Given the description of an element on the screen output the (x, y) to click on. 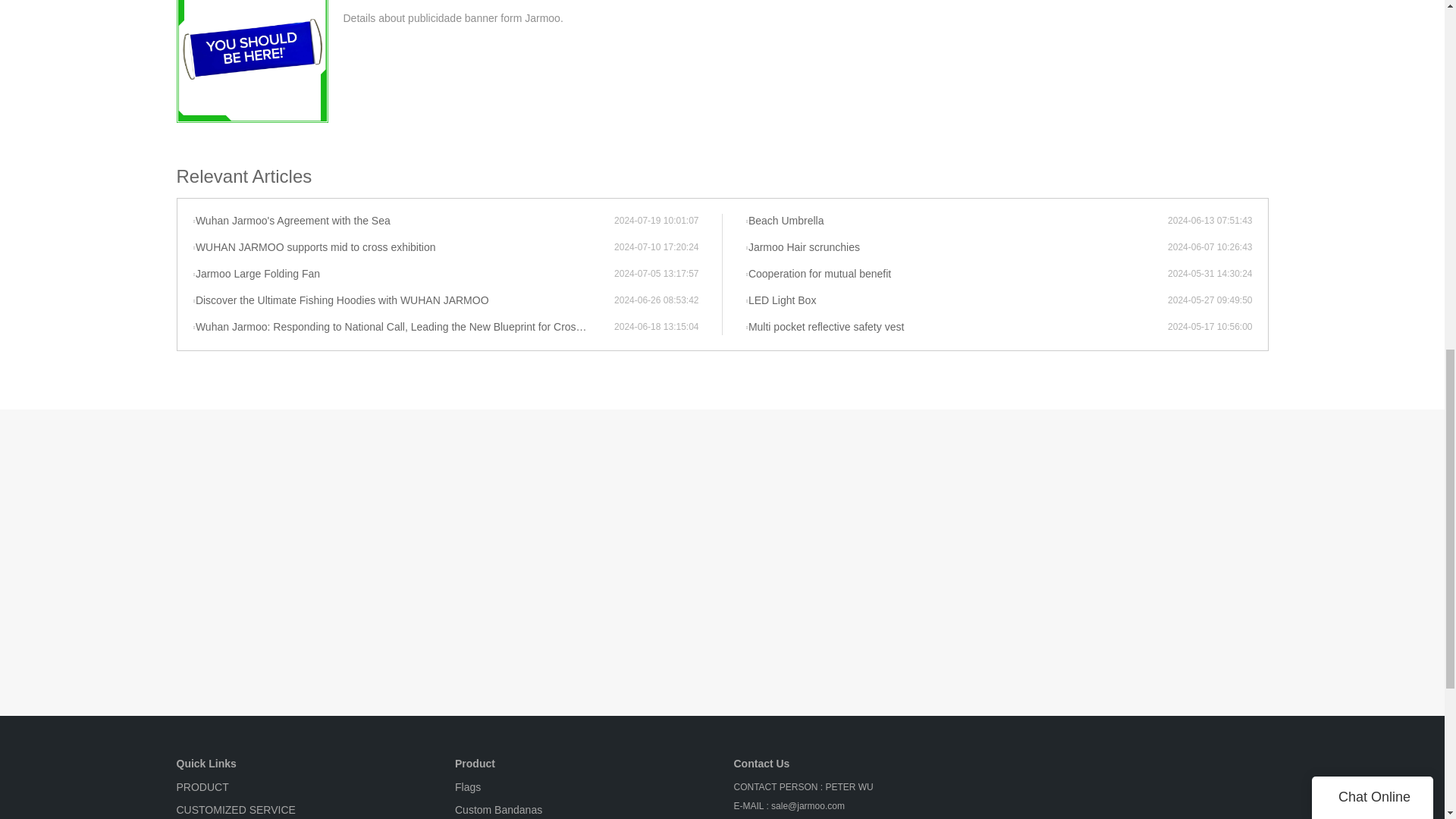
Wuhan Jarmoo's Agreement with the Sea (403, 221)
WUHAN JARMOO supports mid to cross exhibition (403, 247)
Discover the Ultimate Fishing Hoodies with WUHAN JARMOO (403, 300)
Jarmoo Large Folding Fan (403, 273)
